Given the description of an element on the screen output the (x, y) to click on. 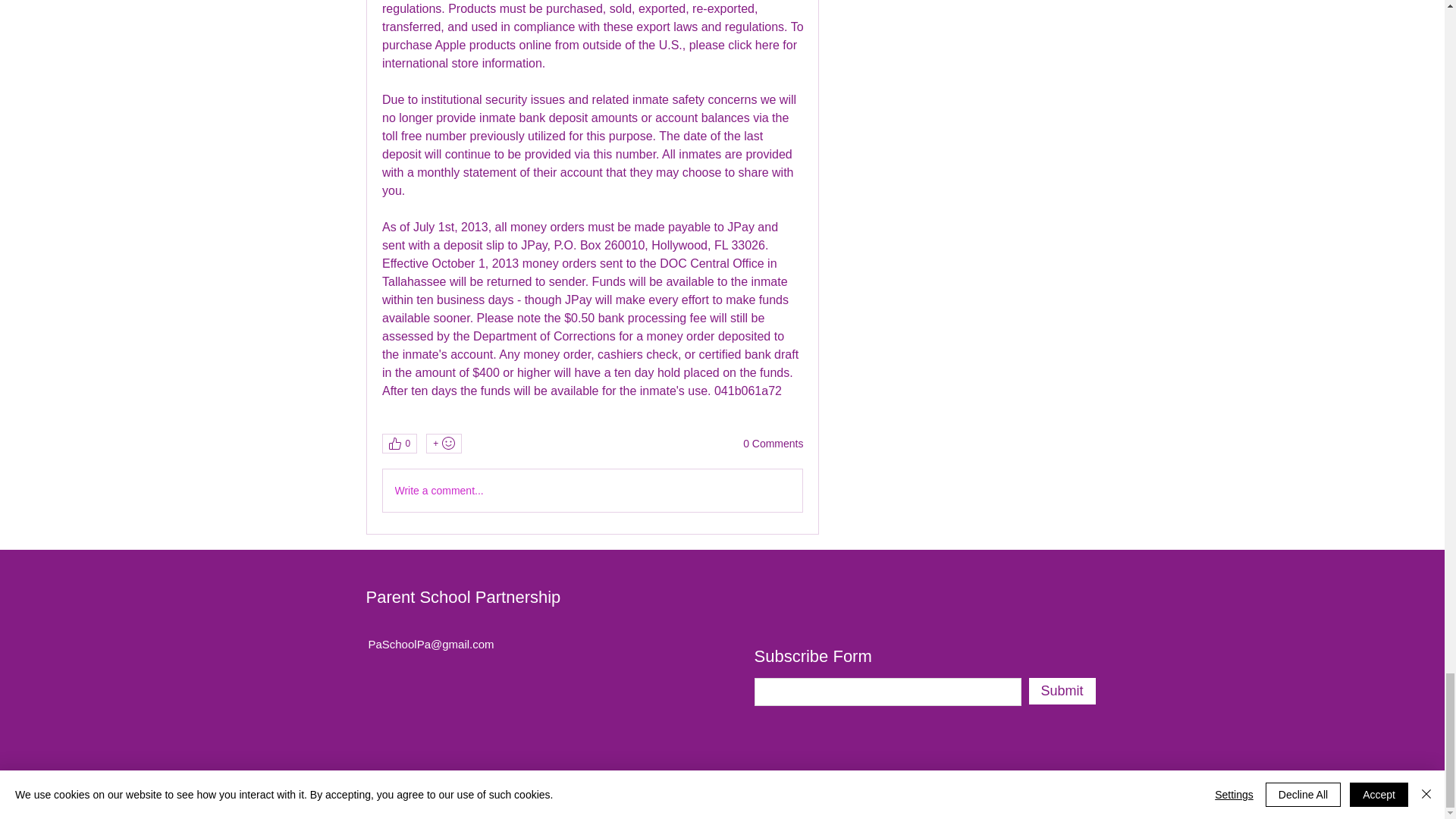
0 Comments (772, 444)
Submit (1060, 691)
Parent School Partnership (462, 597)
Write a comment... (591, 490)
